Given the description of an element on the screen output the (x, y) to click on. 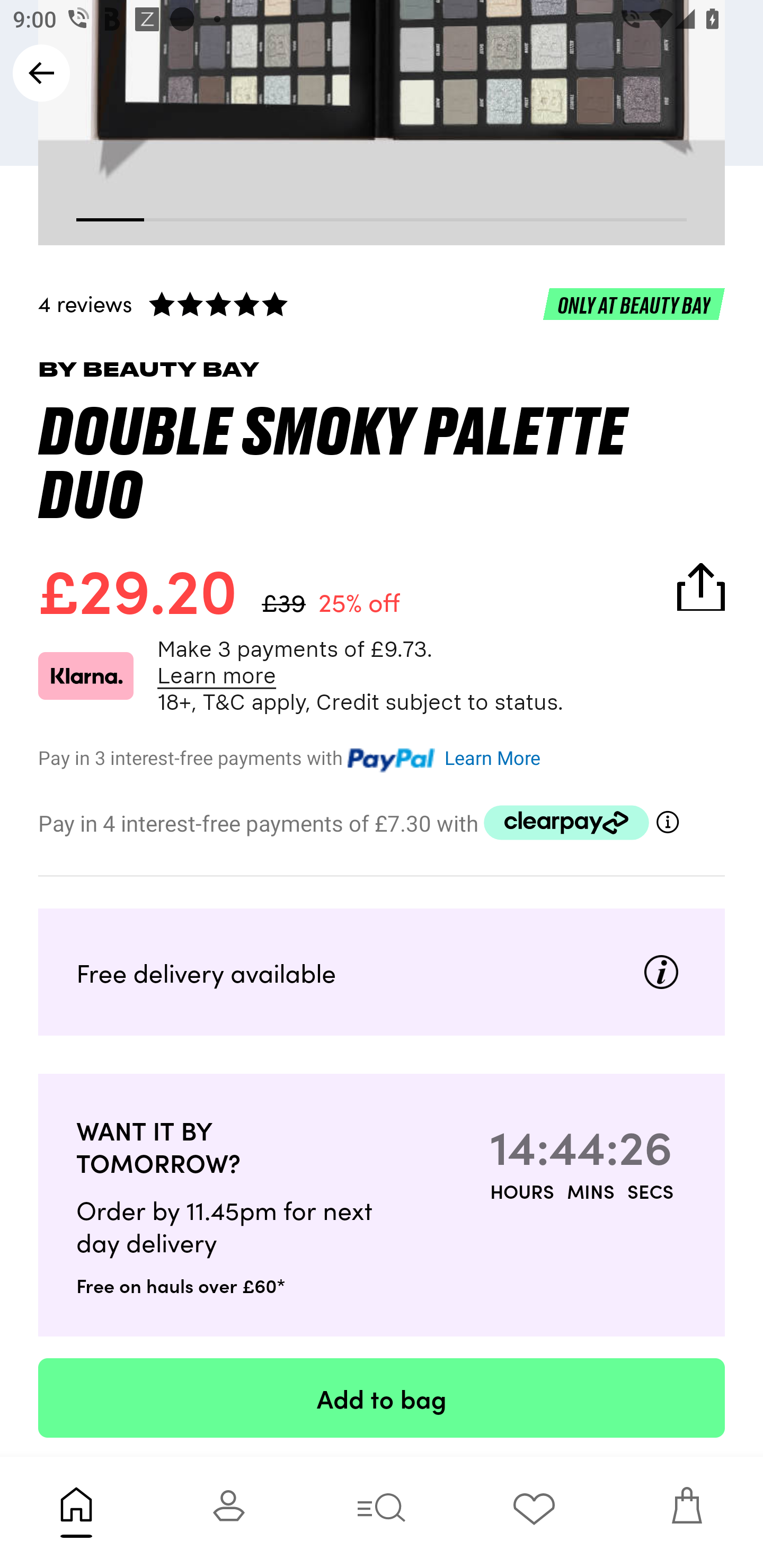
4 reviews (381, 302)
Pay in 3 interest-free payments with 0  Learn More (381, 755)
 (668, 822)
Add to bag (381, 1397)
